Given the description of an element on the screen output the (x, y) to click on. 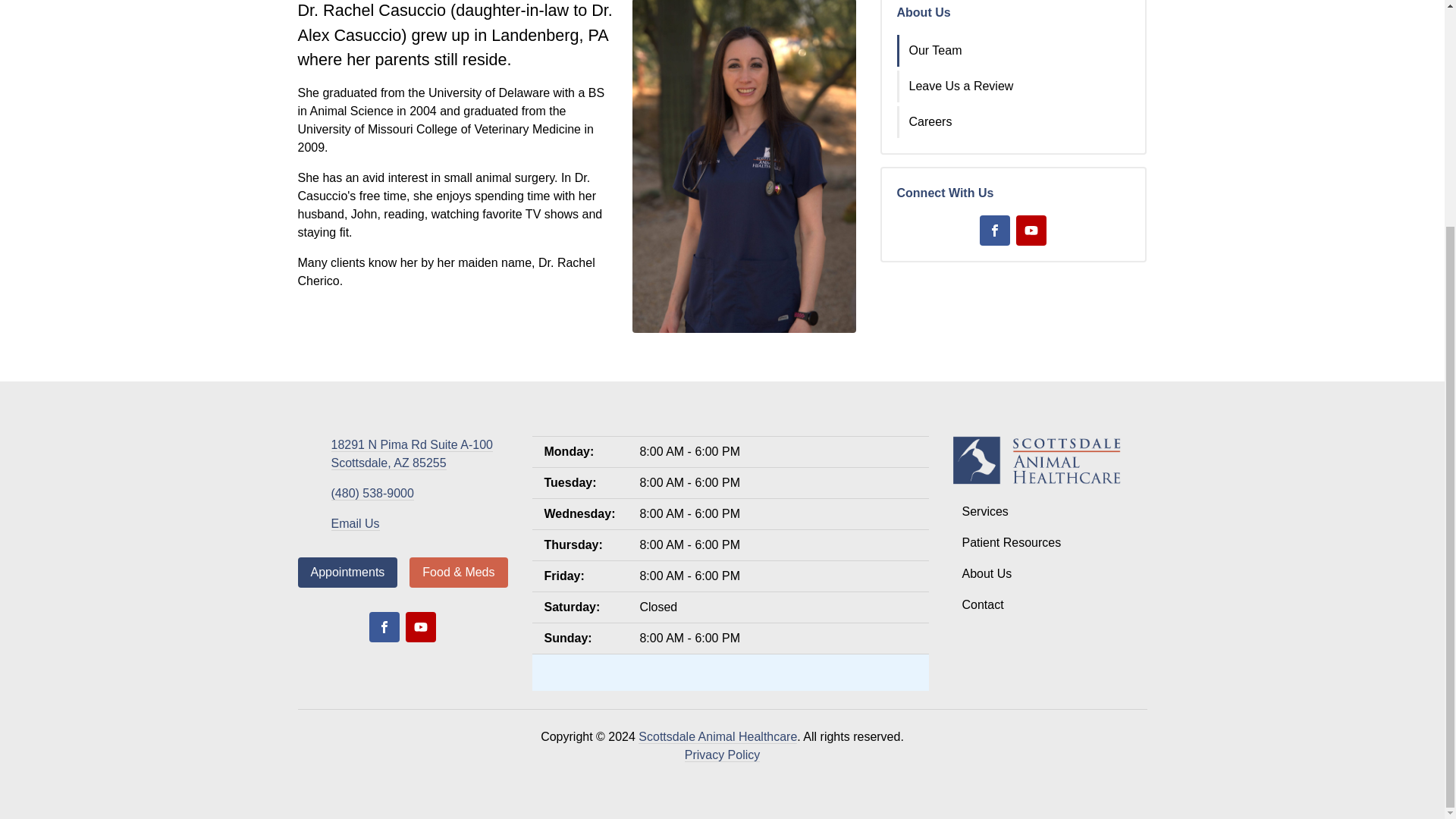
Our Team (411, 454)
Open this Address on Google Maps (1015, 50)
Youtube (411, 454)
Email Us (1031, 230)
About Us (354, 523)
Youtube (923, 11)
Call Us (420, 626)
Facebook (371, 493)
Email Us (994, 230)
